Given the description of an element on the screen output the (x, y) to click on. 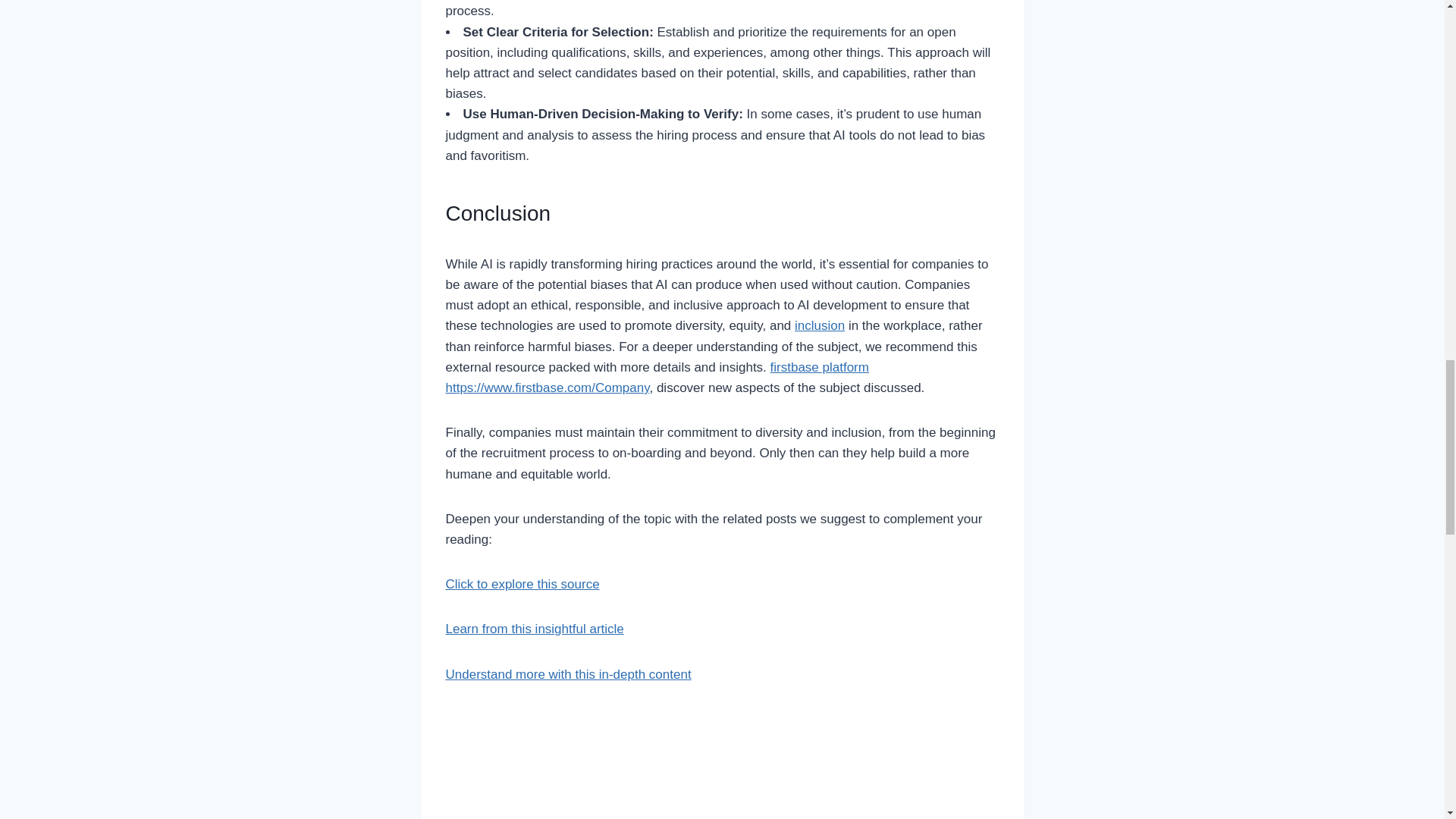
inclusion (819, 325)
Click to explore this source (522, 584)
Understand more with this in-depth content (568, 674)
Learn from this insightful article (534, 628)
